Given the description of an element on the screen output the (x, y) to click on. 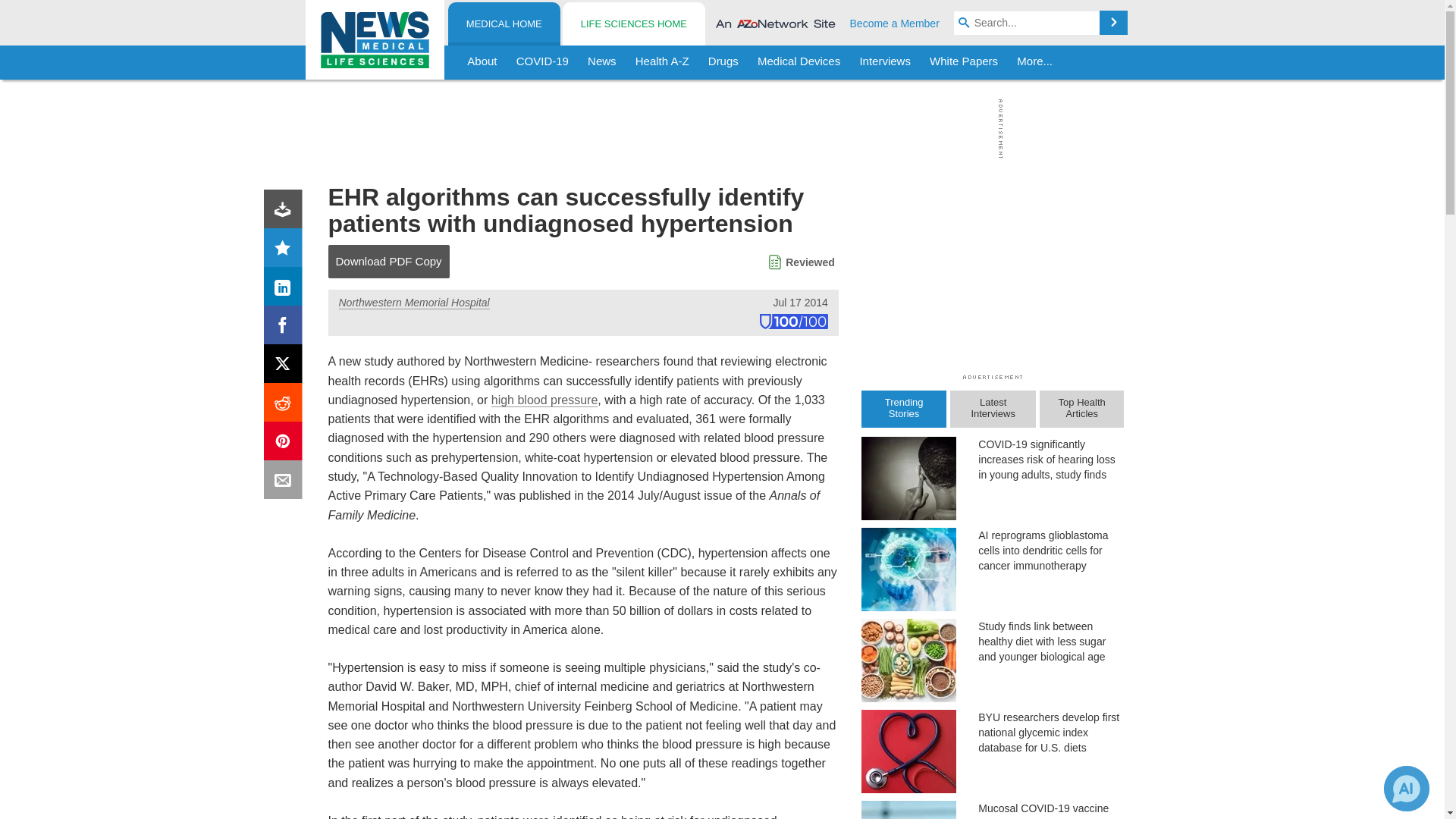
Medical Devices (798, 62)
MEDICAL HOME (504, 23)
Health A-Z (662, 62)
News (601, 62)
Search (1112, 22)
X (285, 366)
Interviews (884, 62)
About (482, 62)
LinkedIn (285, 289)
Download PDF copy (285, 212)
More... (1035, 62)
Rating (285, 250)
COVID-19 (542, 62)
LIFE SCIENCES HOME (633, 23)
